Given the description of an element on the screen output the (x, y) to click on. 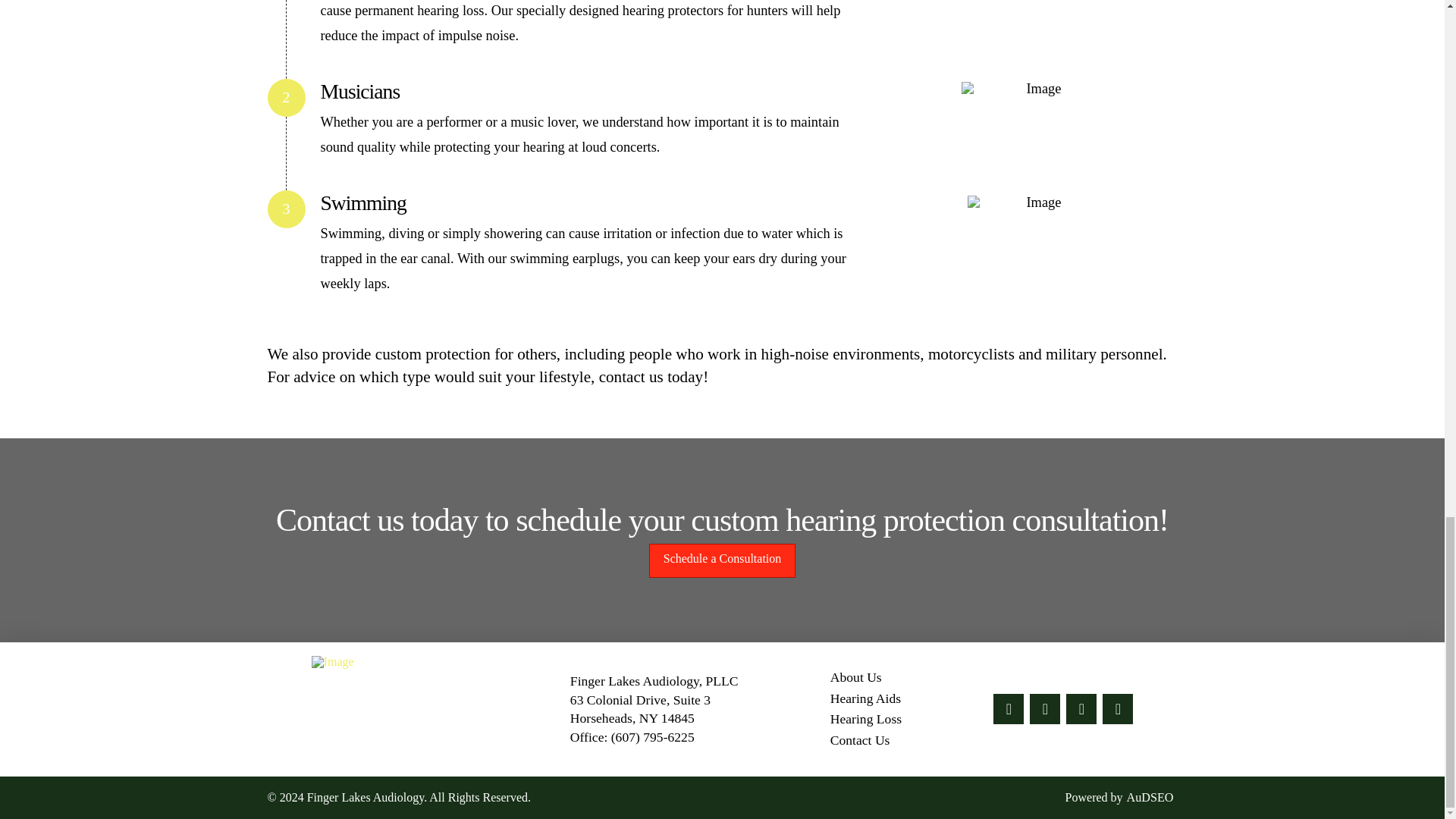
Schedule a Consultation (722, 560)
Hearing Loss (866, 719)
Hearing Aids (865, 699)
Contact Us (860, 740)
AuDSEO (1149, 797)
About Us (856, 677)
